Given the description of an element on the screen output the (x, y) to click on. 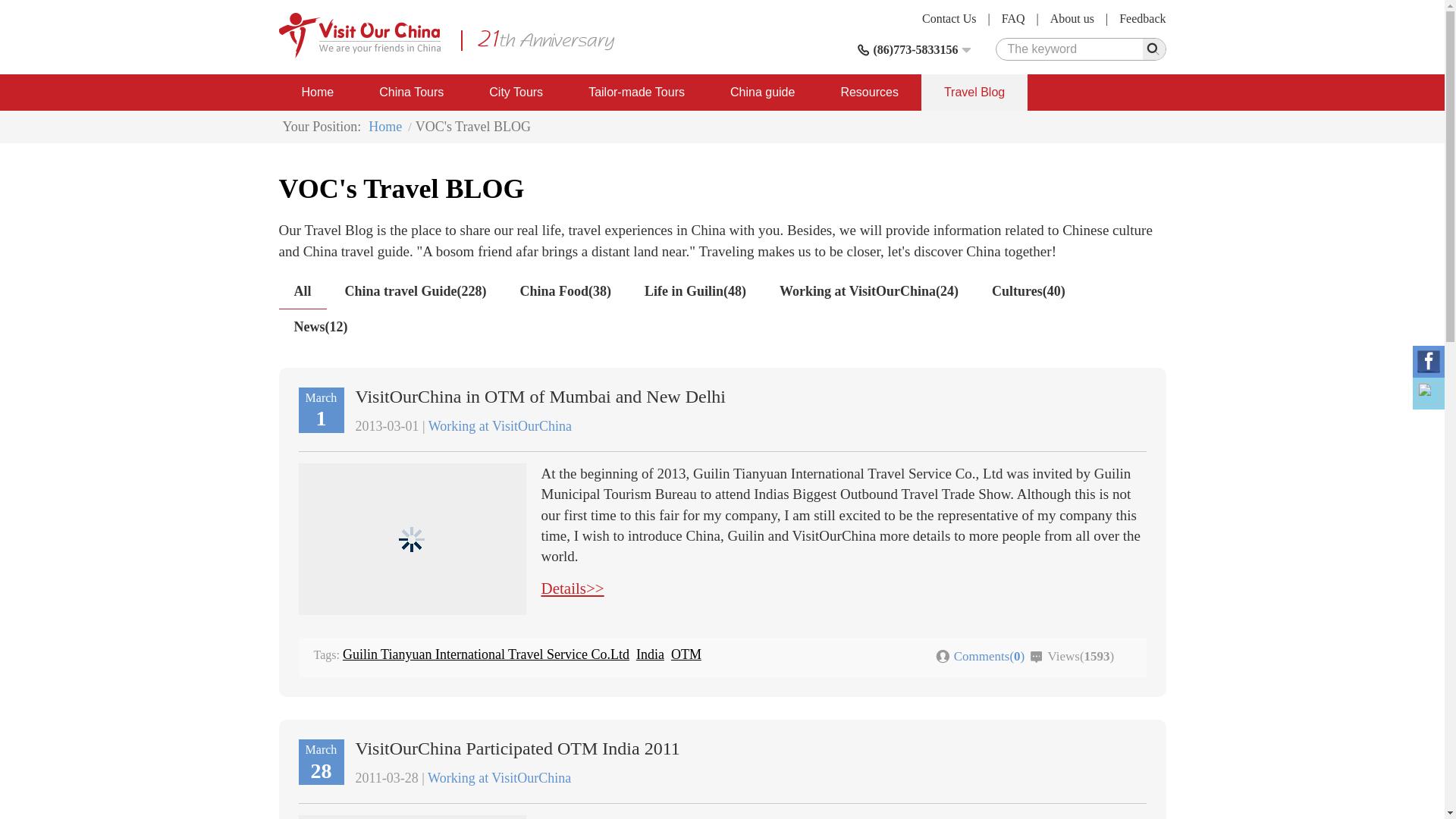
Resources (868, 92)
China Tours (410, 92)
China guide (761, 92)
City Tours (515, 92)
About us (1071, 18)
Contact Us (948, 18)
Home (317, 92)
Feedback (1142, 18)
Tailor-made Tours (636, 92)
FAQ (1013, 18)
